Given the description of an element on the screen output the (x, y) to click on. 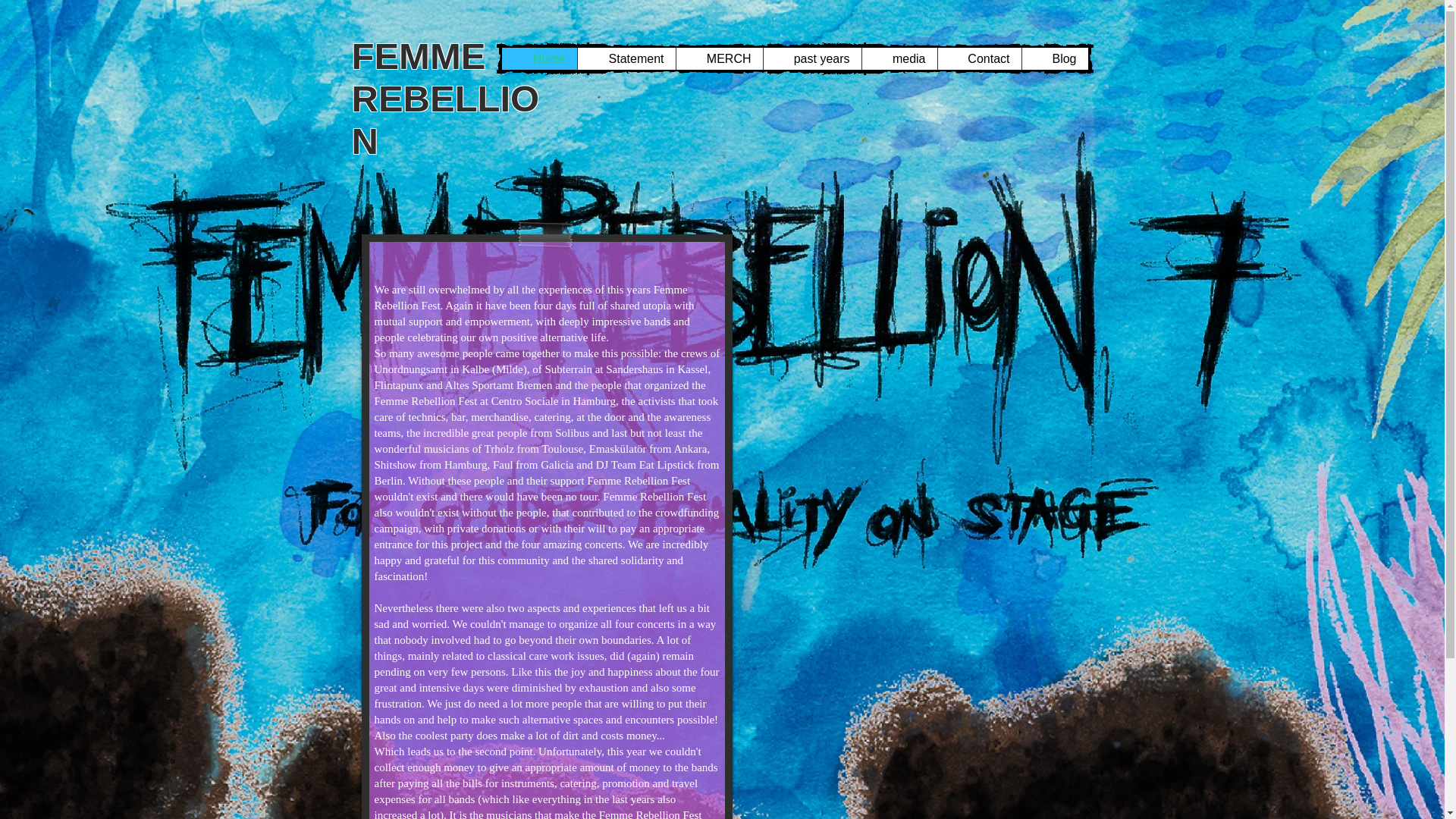
Blog (1053, 58)
Statement (625, 58)
Contact (979, 58)
MERCH (718, 58)
media (899, 58)
past years (811, 58)
Home (539, 58)
FEMME REBELLION (446, 98)
